Given the description of an element on the screen output the (x, y) to click on. 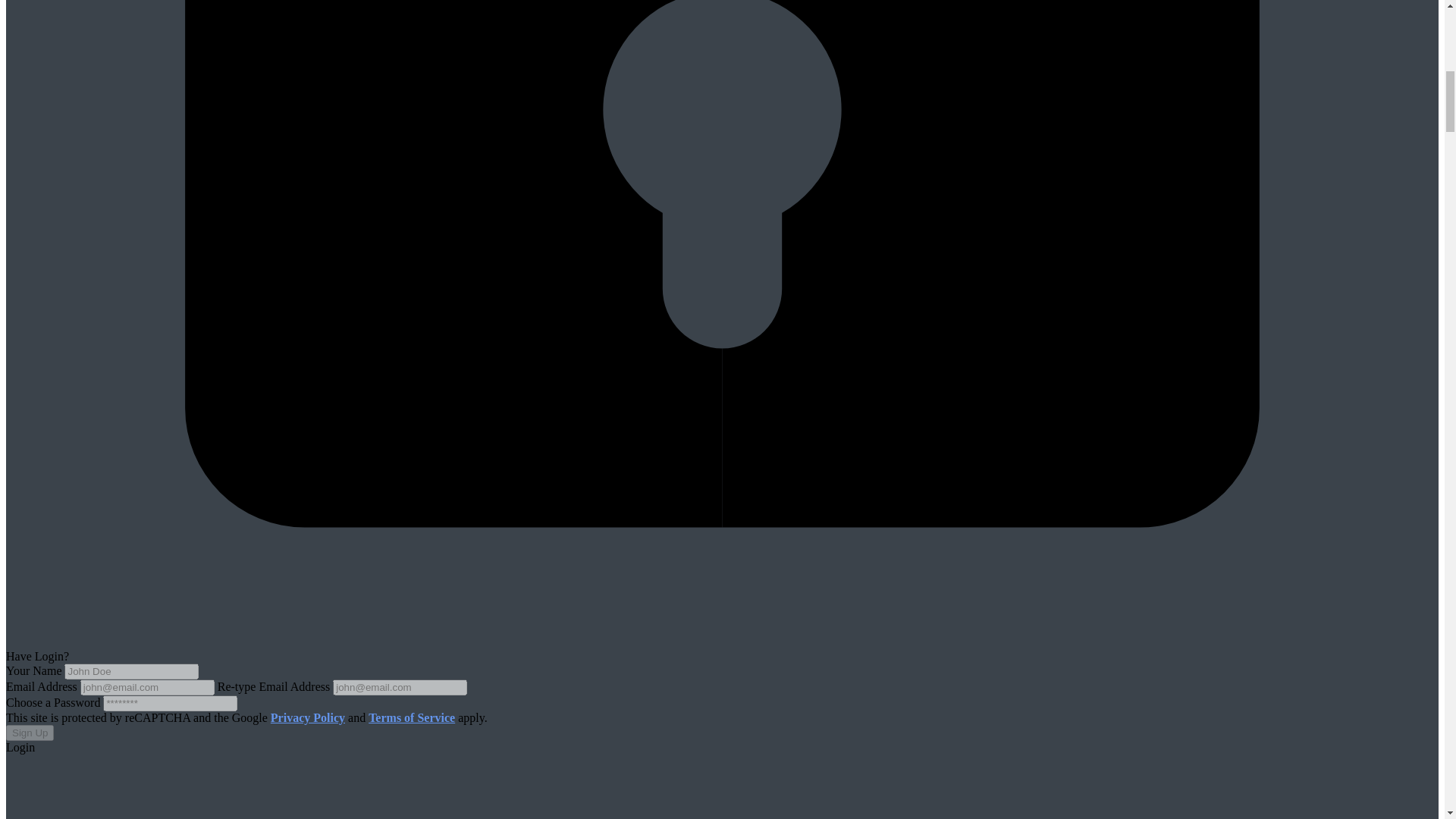
Privacy Policy (307, 717)
Sign Up (29, 732)
Terms of Service (411, 717)
